Given the description of an element on the screen output the (x, y) to click on. 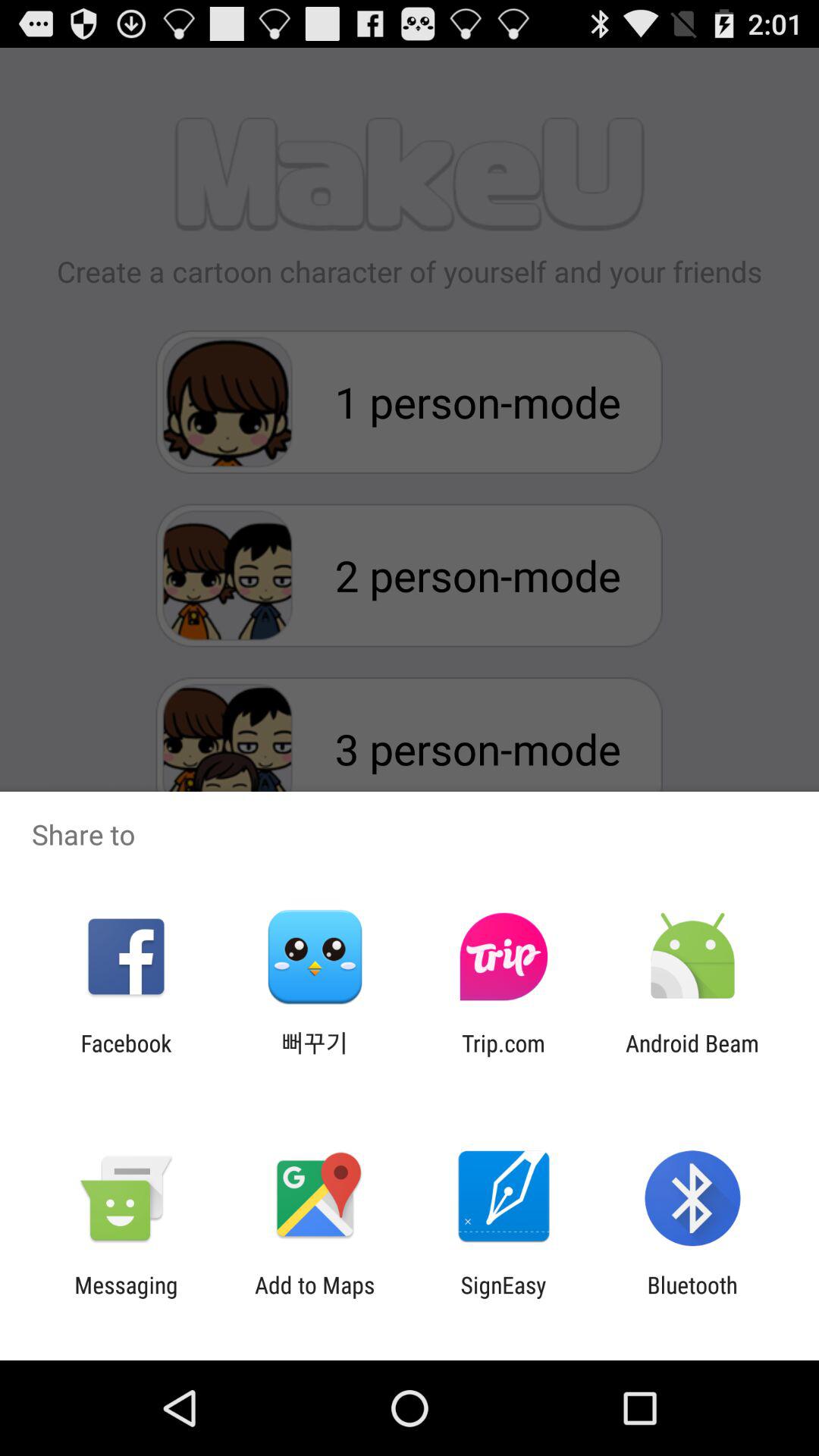
turn off app to the left of the bluetooth app (503, 1298)
